Given the description of an element on the screen output the (x, y) to click on. 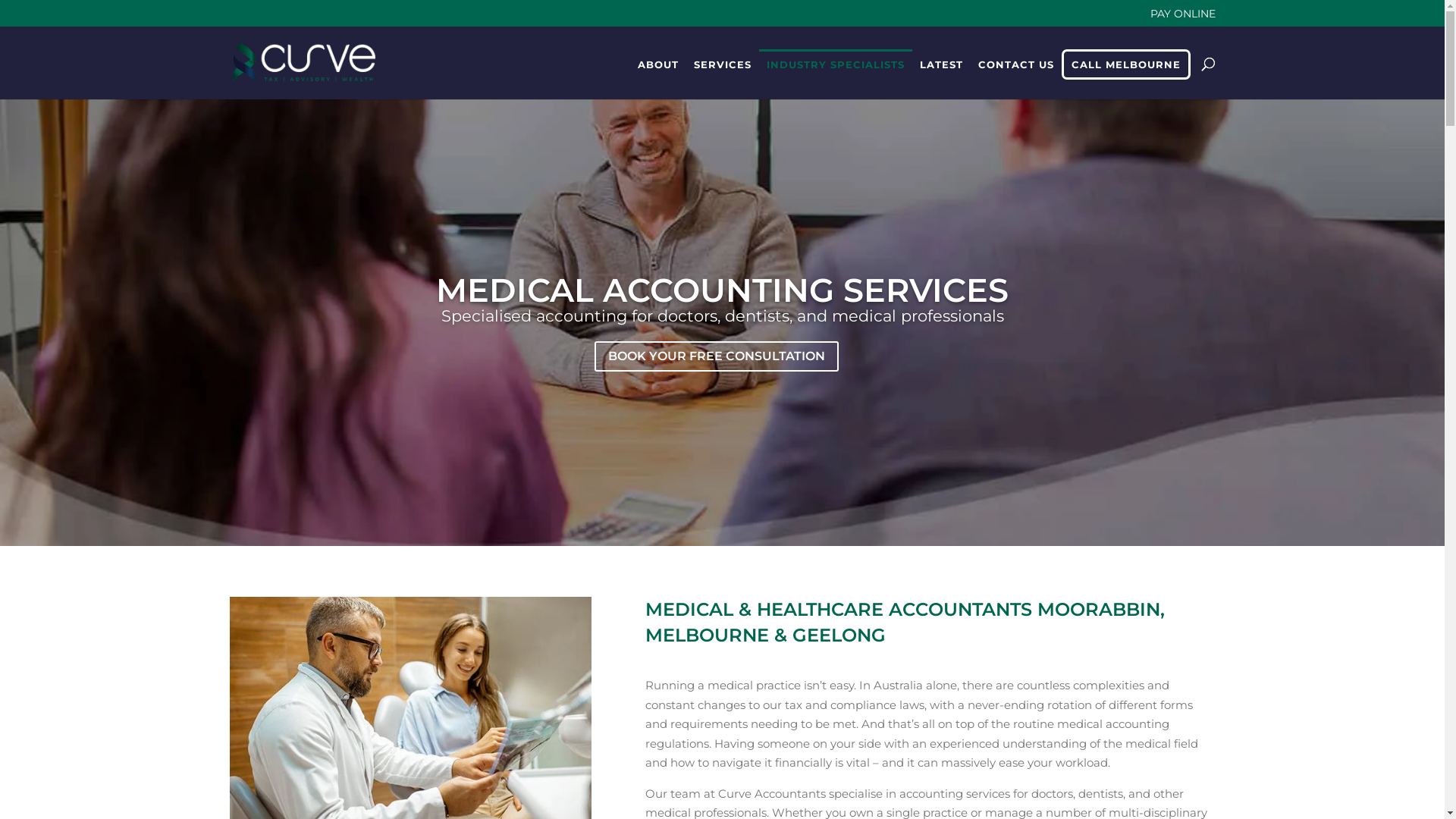
CONTACT US Element type: text (1015, 62)
BOOK YOUR FREE CONSULTATION Element type: text (716, 356)
LATEST Element type: text (940, 64)
ABOUT Element type: text (657, 64)
INDUSTRY SPECIALISTS Element type: text (834, 64)
CALL MELBOURNE Element type: text (1125, 64)
PAY ONLINE Element type: text (1181, 16)
SERVICES Element type: text (721, 64)
